Given the description of an element on the screen output the (x, y) to click on. 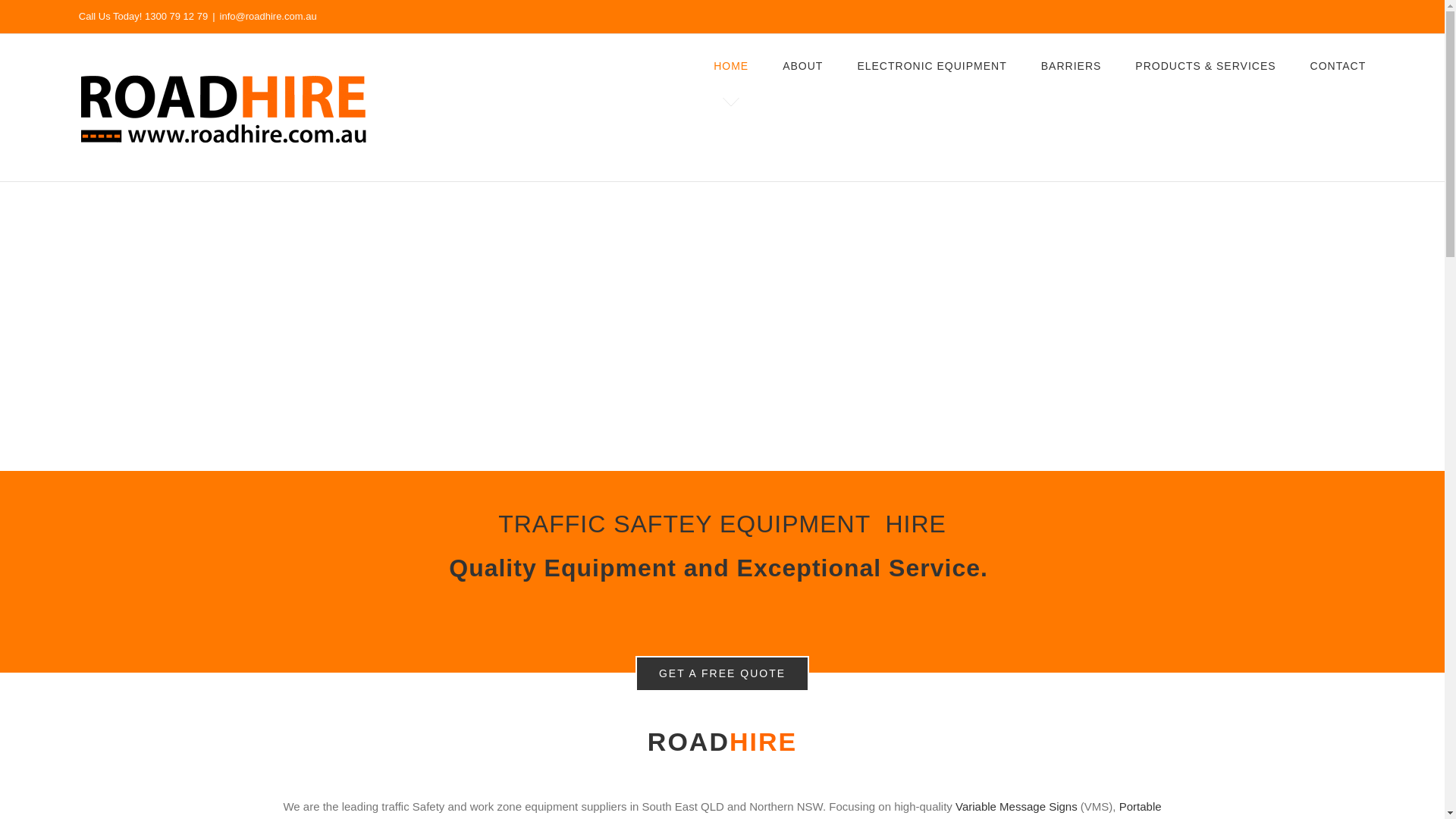
ELECTRONIC EQUIPMENT (931, 65)
BARRIERS (1071, 65)
Call Us Today! 1300 79 12 79 (143, 16)
